Given the description of an element on the screen output the (x, y) to click on. 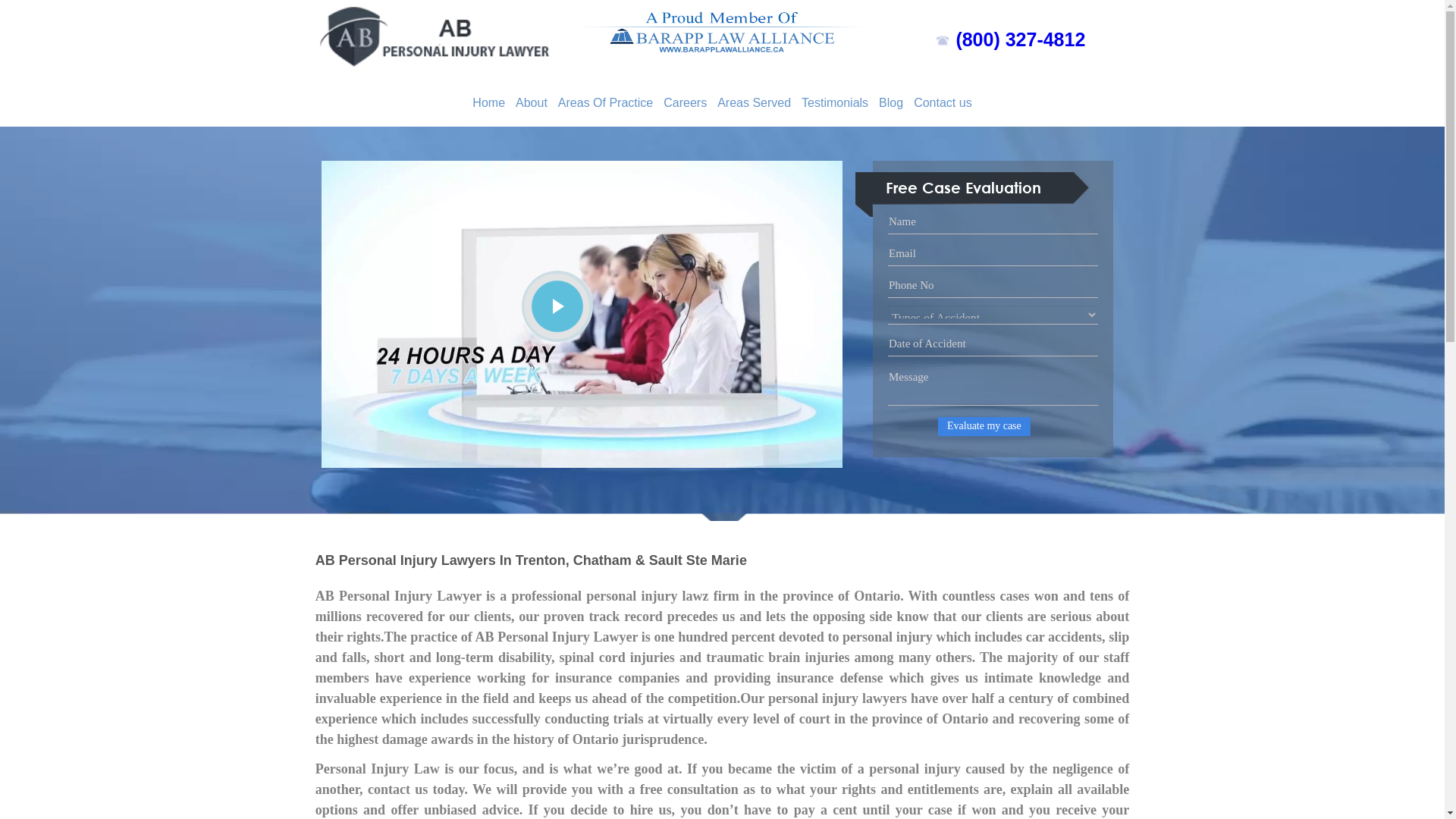
Blog Element type: text (890, 102)
Evaluate my case Element type: text (986, 427)
Testimonials Element type: text (834, 102)
Careers Element type: text (685, 102)
About Element type: text (531, 102)
(800) 327-4812 Element type: text (1020, 39)
Areas Of Practice Element type: text (605, 102)
Contact us Element type: text (942, 102)
Areas Served Element type: text (754, 102)
Home Element type: text (488, 102)
